Given the description of an element on the screen output the (x, y) to click on. 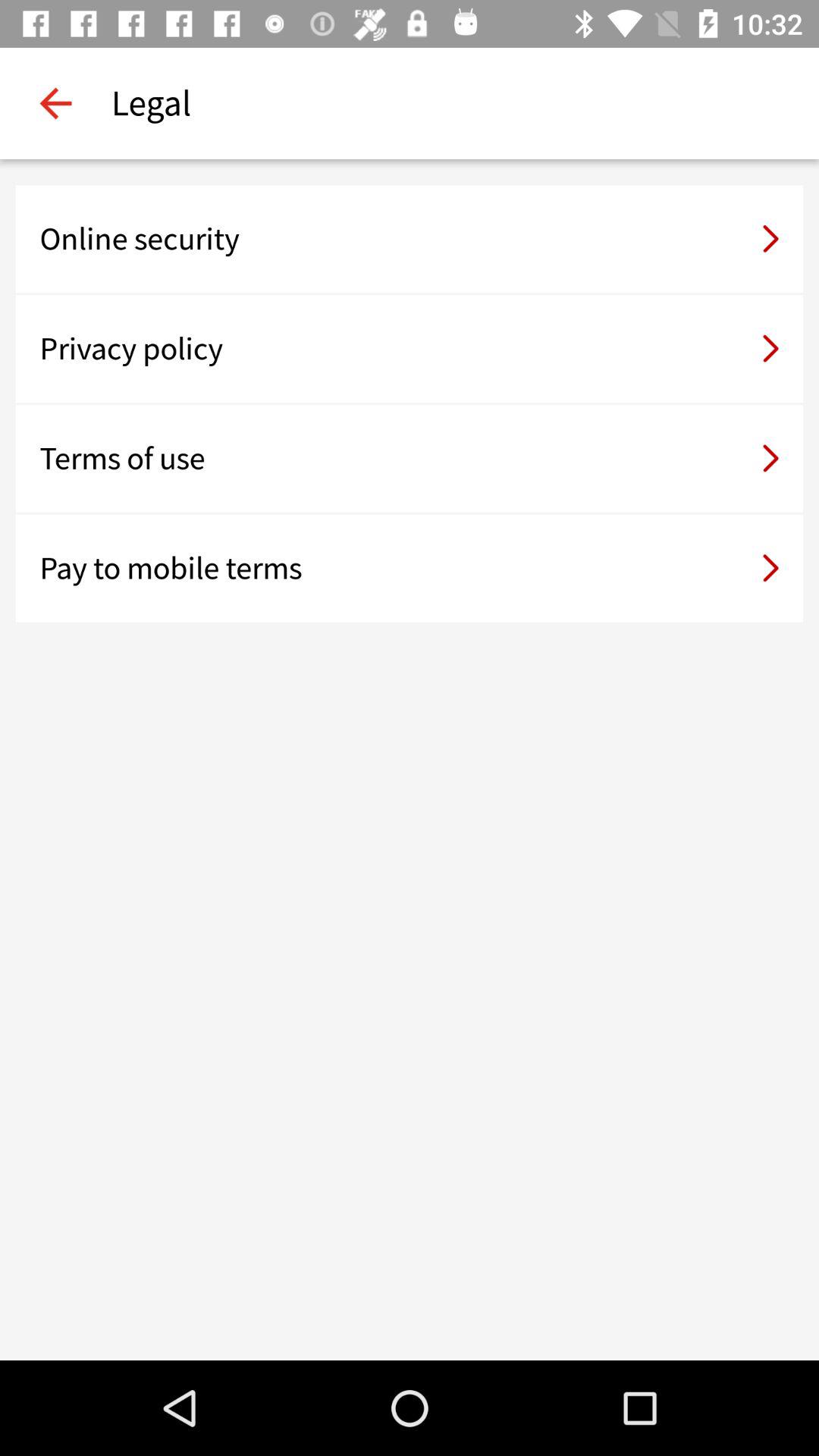
choose the item below online security icon (409, 348)
